Given the description of an element on the screen output the (x, y) to click on. 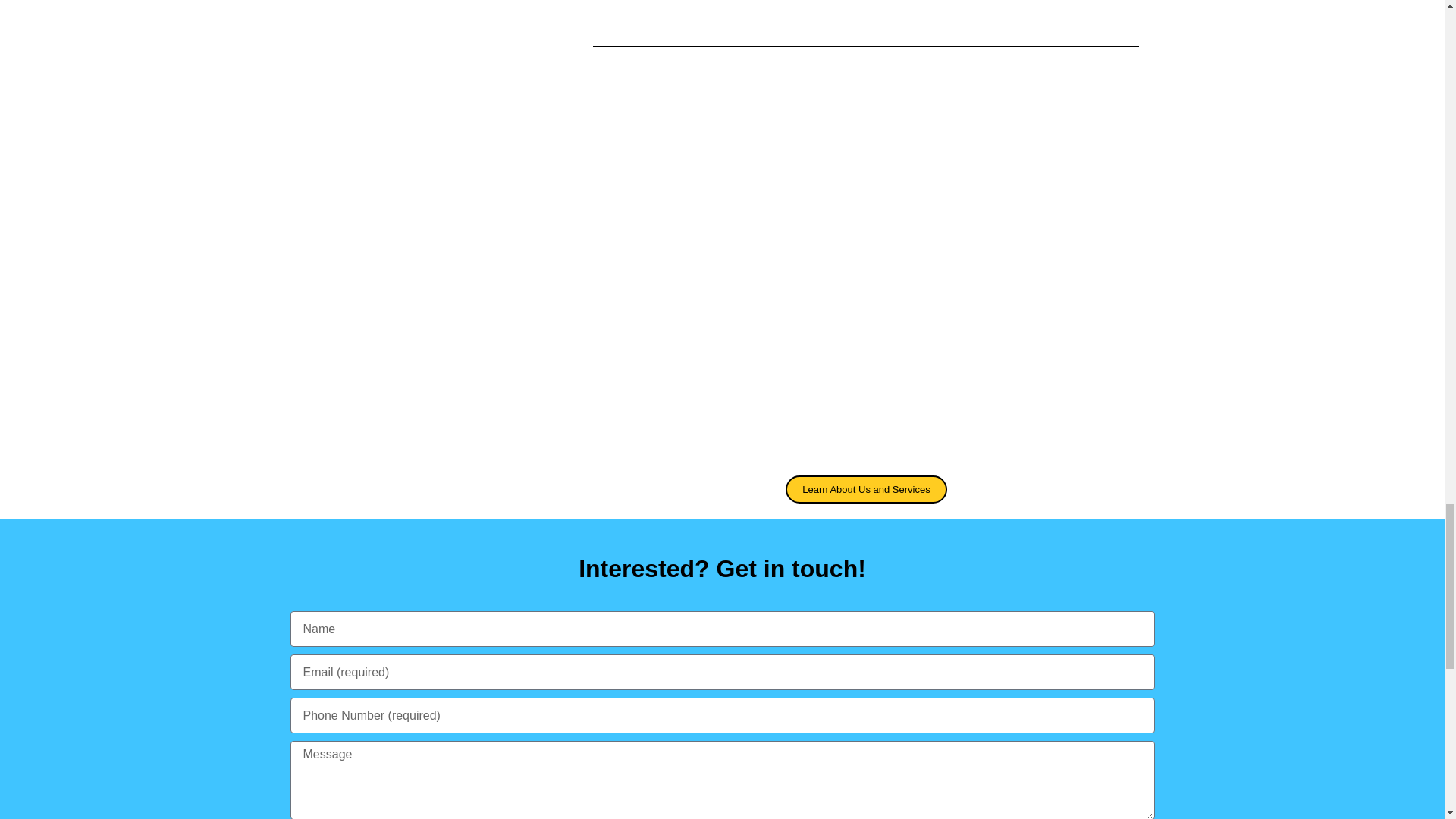
Learn About Us and Services (866, 489)
